Given the description of an element on the screen output the (x, y) to click on. 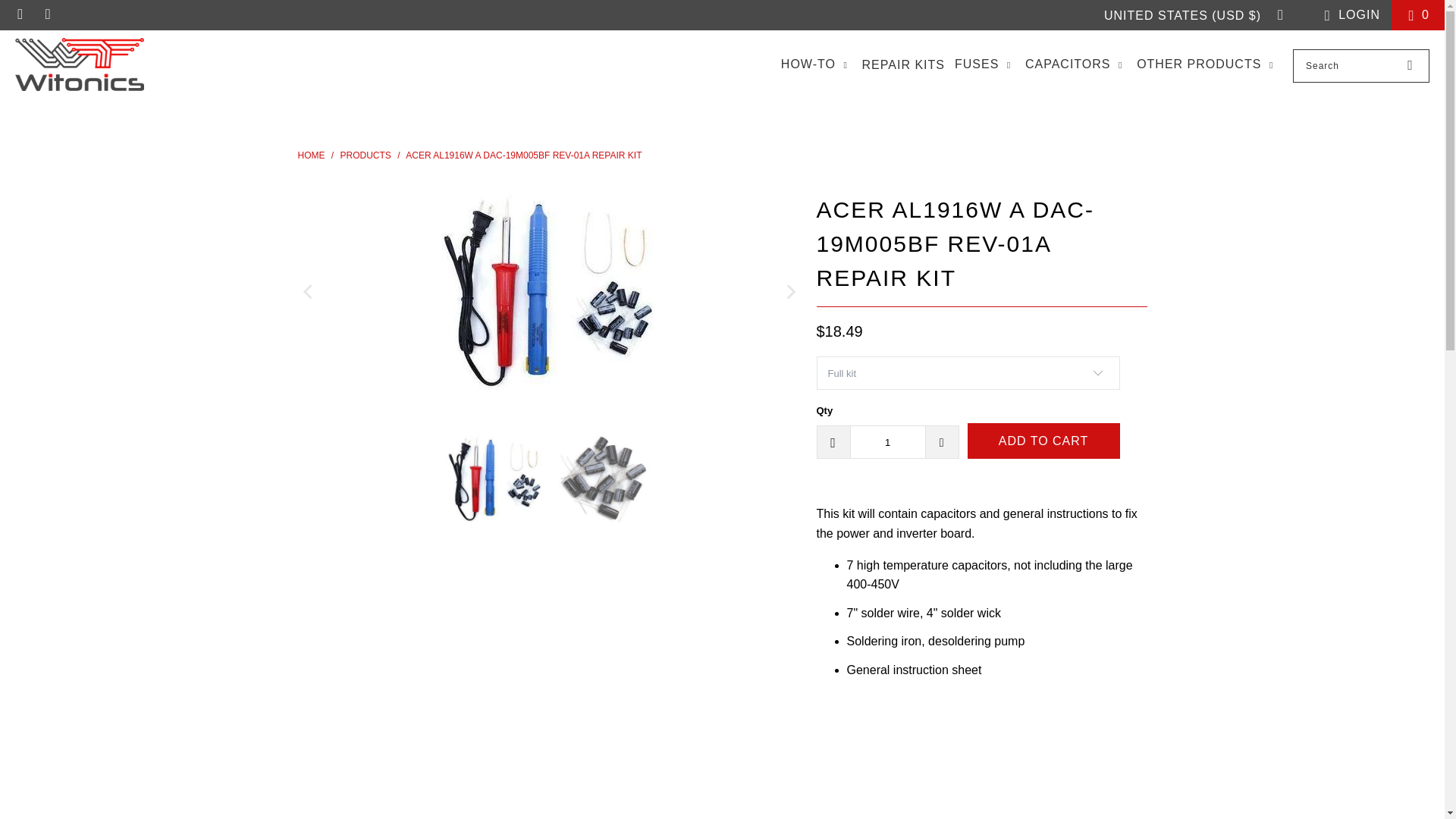
Witonics on YouTube (47, 14)
Witonics (310, 154)
My Account  (1348, 14)
Witonics (79, 65)
Witonics on Facebook (19, 14)
Products (365, 154)
1 (886, 441)
